Given the description of an element on the screen output the (x, y) to click on. 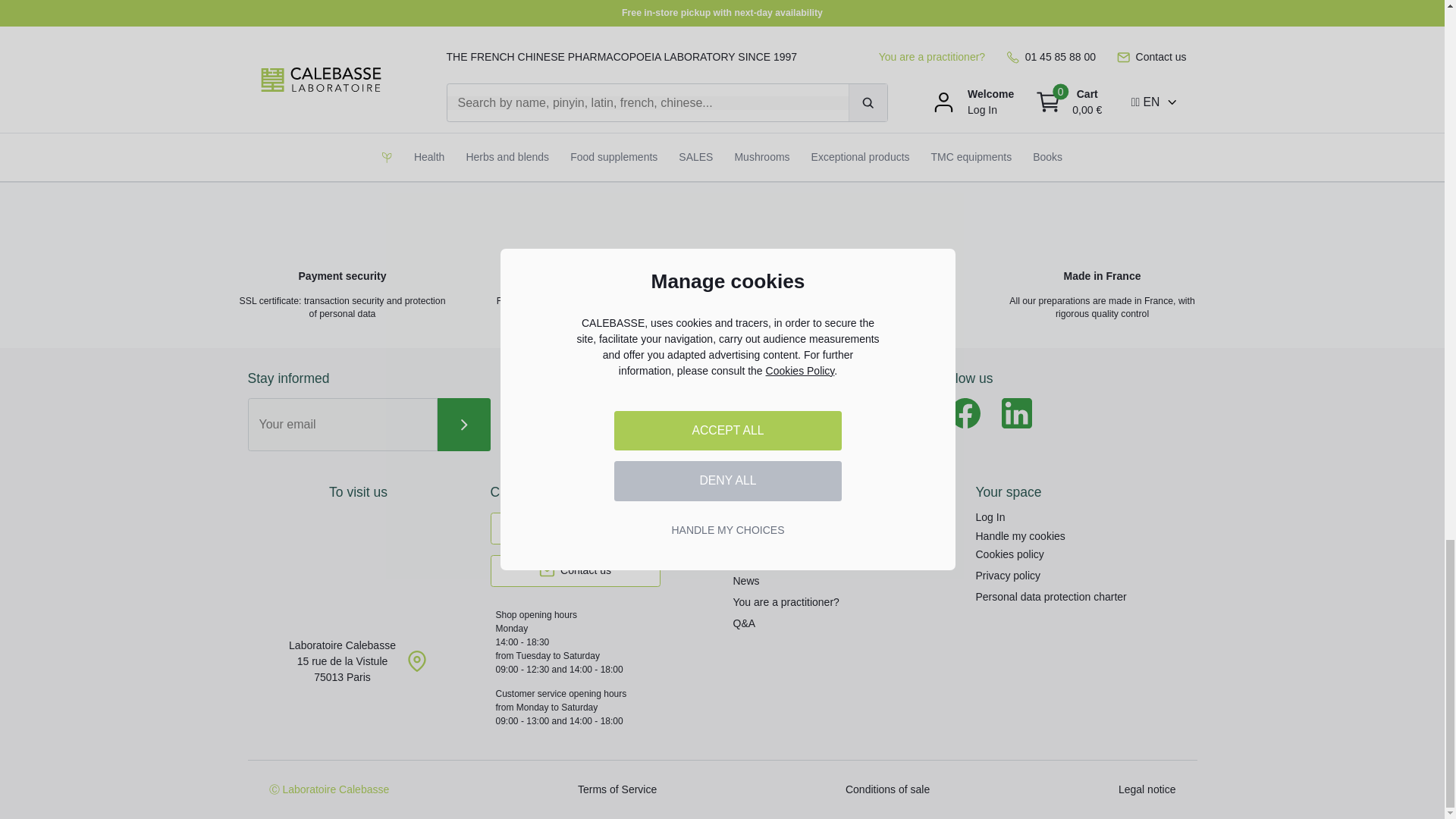
Find us (357, 572)
